Given the description of an element on the screen output the (x, y) to click on. 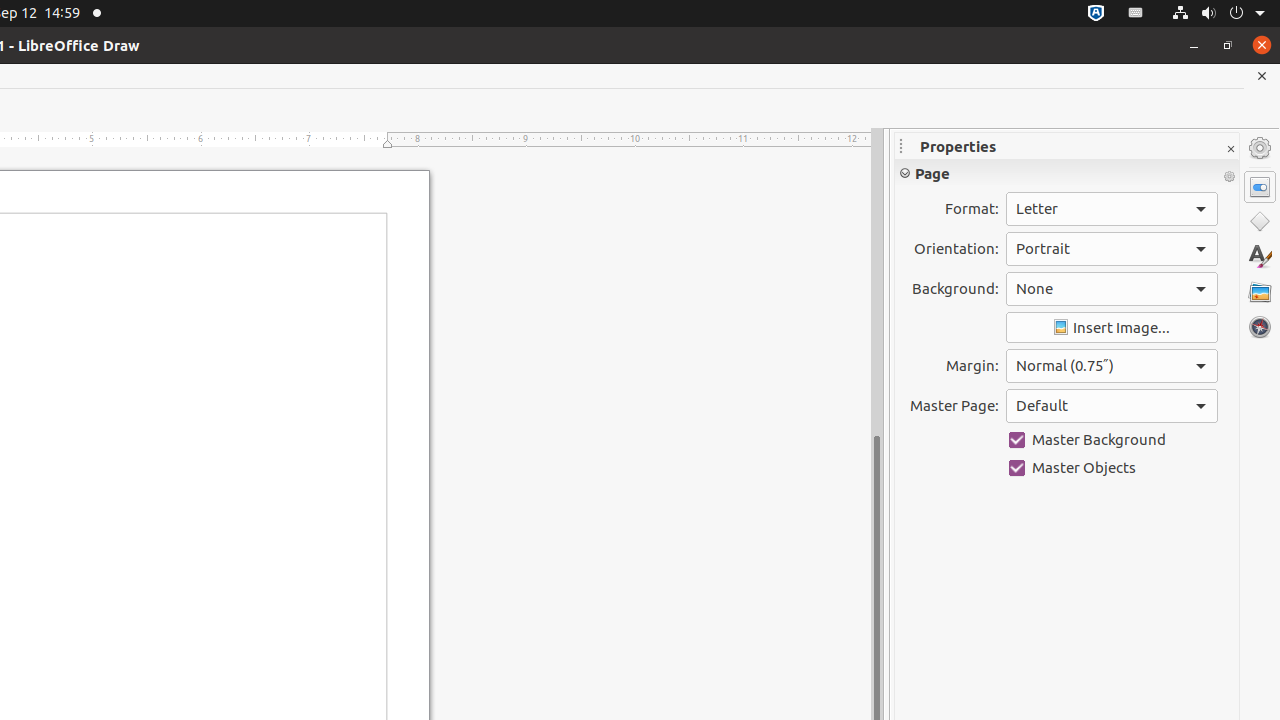
:1.72/StatusNotifierItem Element type: menu (1096, 13)
System Element type: menu (1218, 13)
:1.21/StatusNotifierItem Element type: menu (1136, 13)
